Given the description of an element on the screen output the (x, y) to click on. 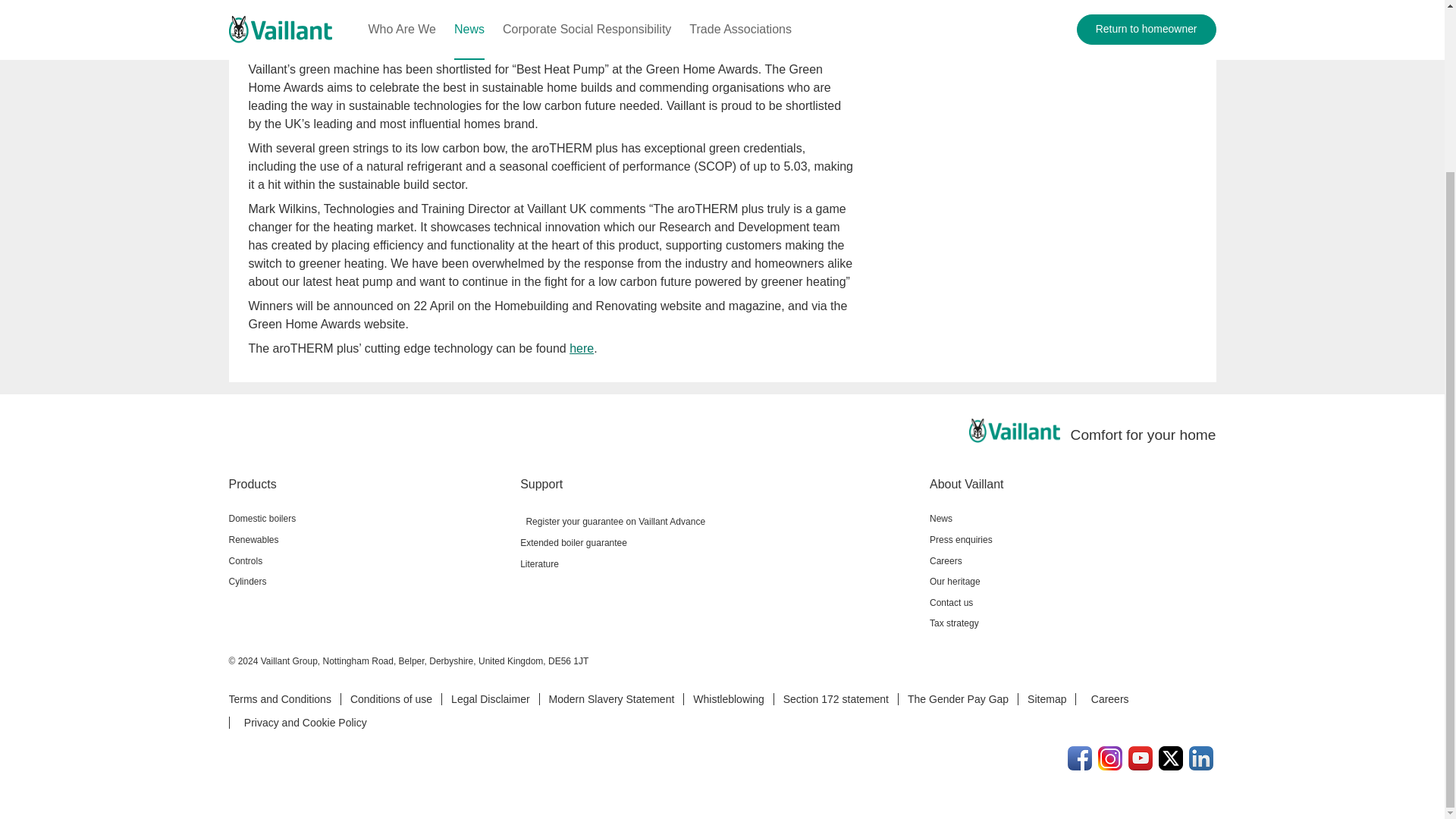
Vaillant (1015, 430)
Twitter (1170, 758)
Extended boiler guarantee (718, 542)
here (581, 348)
Register your guarantee on Vaillant Advance (718, 520)
Press enquiries (1072, 539)
Cylinders (368, 581)
Careers (1072, 560)
News (1072, 518)
Controls (368, 560)
